Given the description of an element on the screen output the (x, y) to click on. 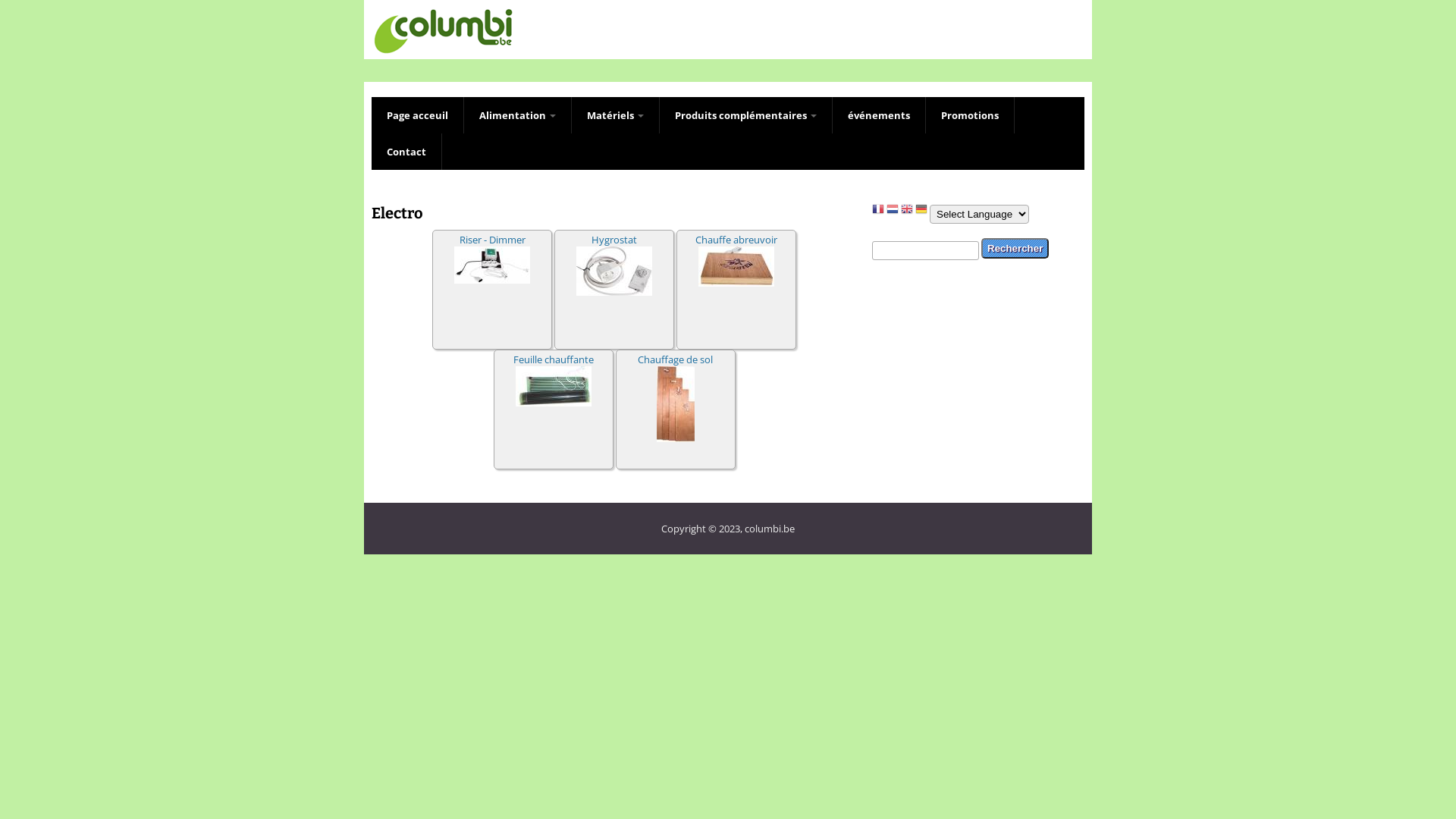
Feuille chauffante Element type: text (552, 358)
Alimentation Element type: text (517, 115)
German Element type: hover (921, 212)
Hygrostat Element type: text (614, 238)
Contact Element type: text (406, 151)
Dutch Element type: hover (892, 212)
Promotions Element type: text (969, 115)
Chauffe abreuvoir Element type: text (736, 238)
English Element type: hover (906, 212)
Chauffage de sol Element type: text (674, 358)
French Element type: hover (878, 212)
Page acceuil Element type: text (417, 115)
Accueil Element type: hover (442, 52)
Riser - Dimmer Element type: text (492, 238)
Rechercher Element type: text (1014, 248)
